Given the description of an element on the screen output the (x, y) to click on. 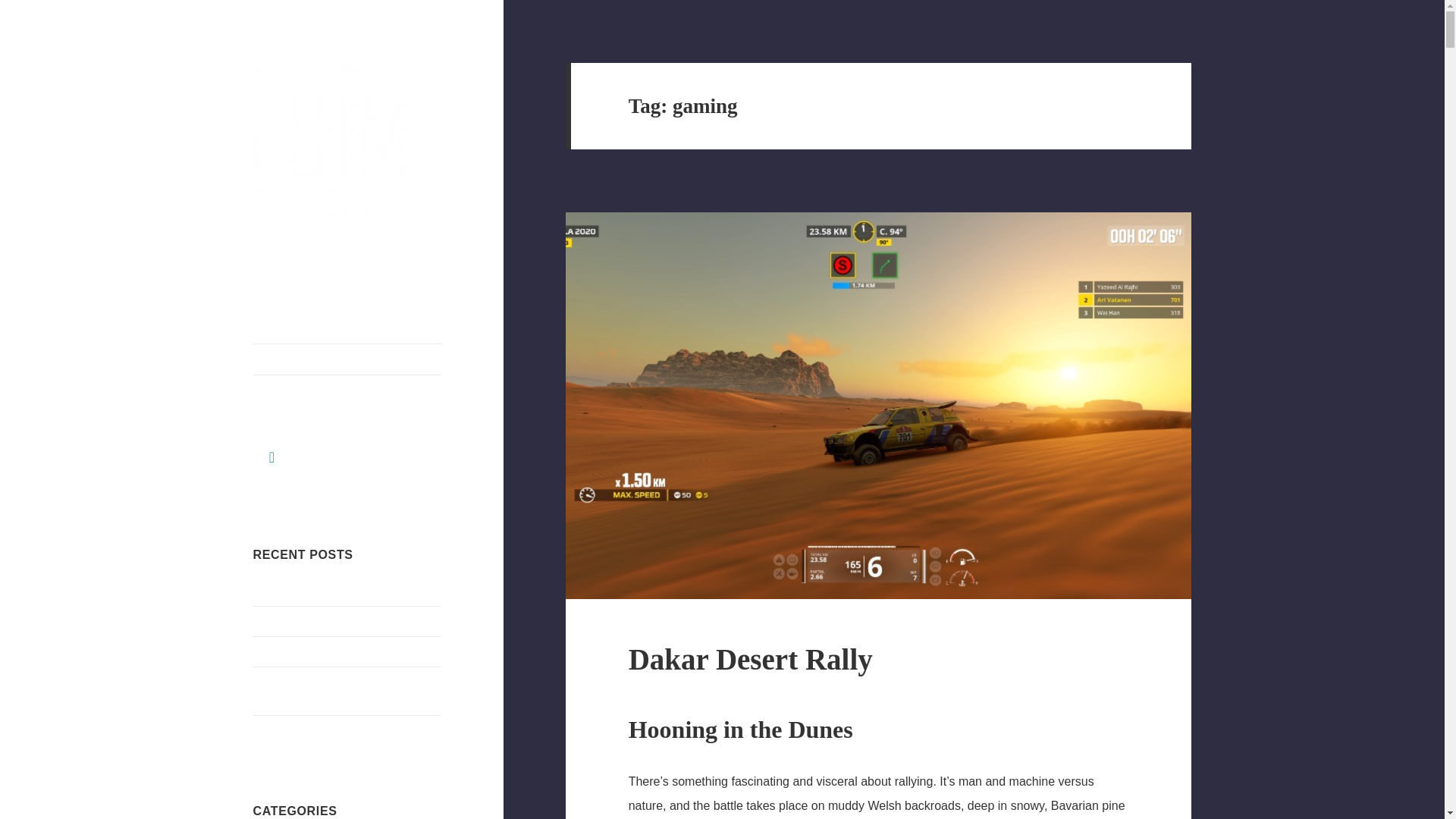
Home (347, 358)
Video Game Covers (302, 651)
Into the Breach (291, 621)
Terra Nil (275, 590)
